Given the description of an element on the screen output the (x, y) to click on. 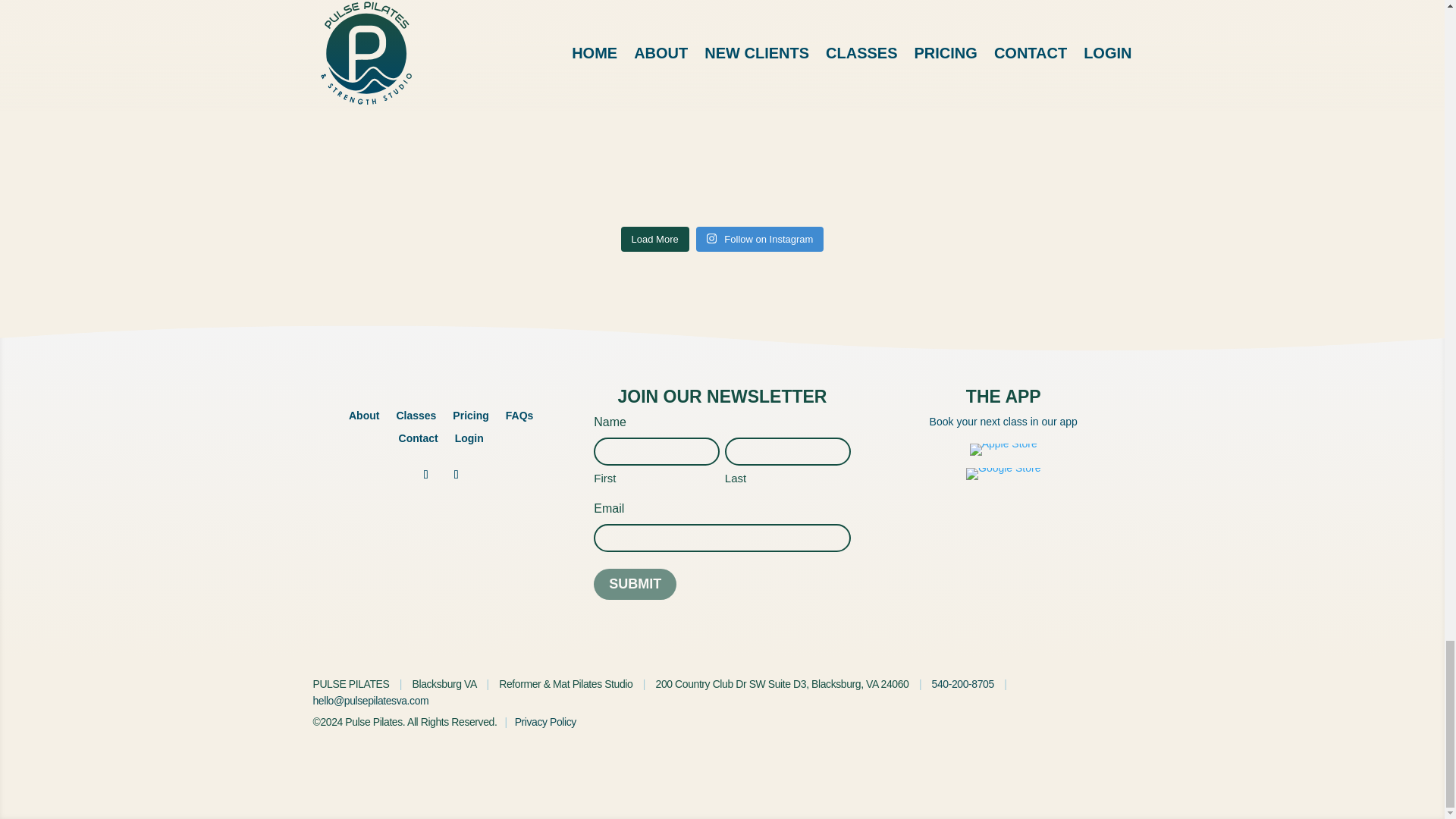
Submit (635, 583)
Pricing (469, 418)
Follow on Facebook (425, 474)
apple-store (1002, 449)
Submit (635, 583)
google-store (1003, 473)
Contact (418, 441)
Privacy Policy (545, 721)
FAQs (519, 418)
Follow on Instagram (759, 239)
